Given the description of an element on the screen output the (x, y) to click on. 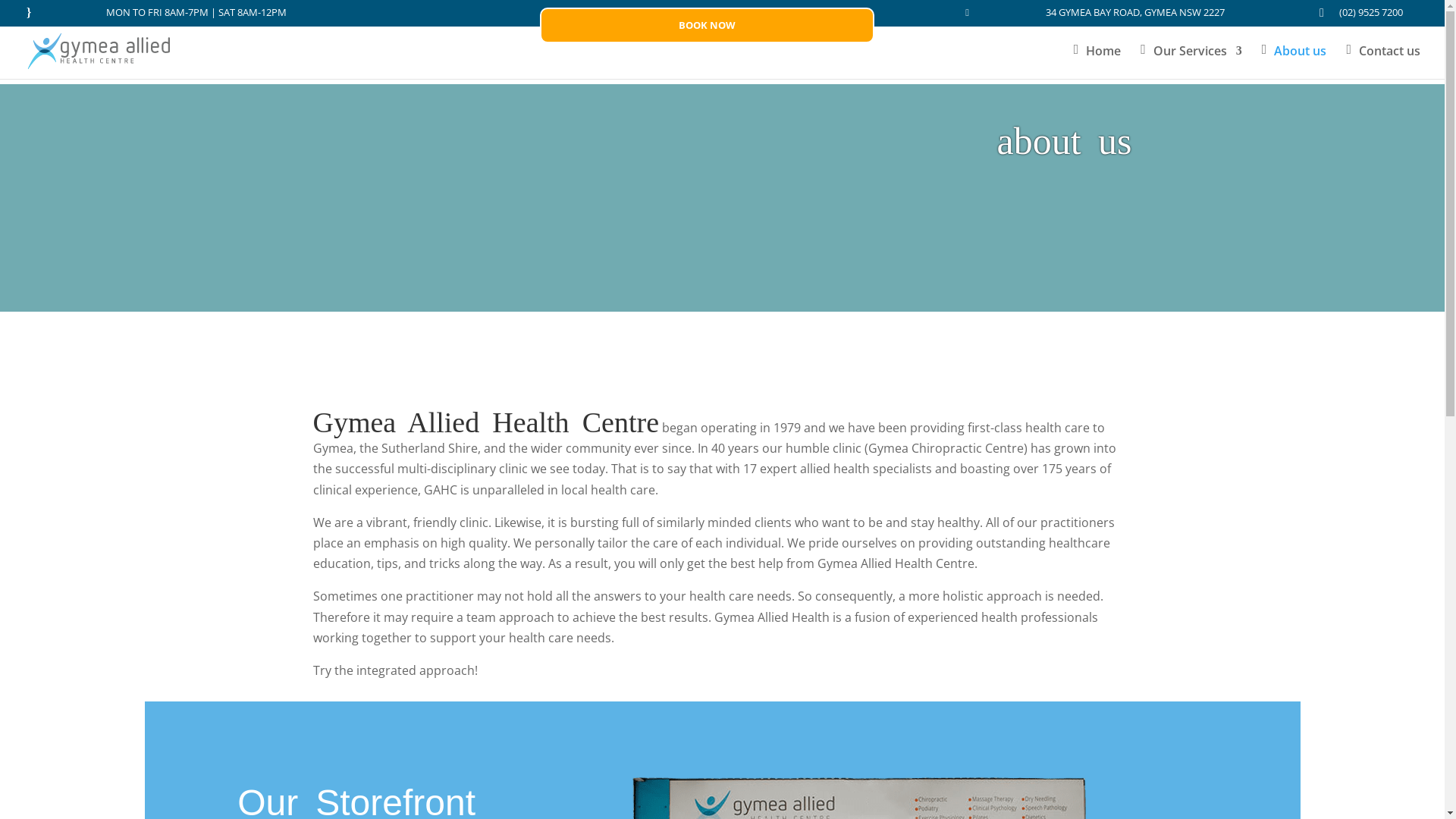
(02) 9525 7200 Element type: text (1368, 14)
BOOK NOW Element type: text (707, 25)
MON TO FRI 8AM-7PM | SAT 8AM-12PM Element type: text (193, 14)
Home Element type: text (1097, 61)
About us Element type: text (1294, 61)
Contact us Element type: text (1383, 61)
Our Services Element type: text (1191, 61)
34 GYMEA BAY ROAD, GYMEA NSW 2227 Element type: text (1132, 14)
